Given the description of an element on the screen output the (x, y) to click on. 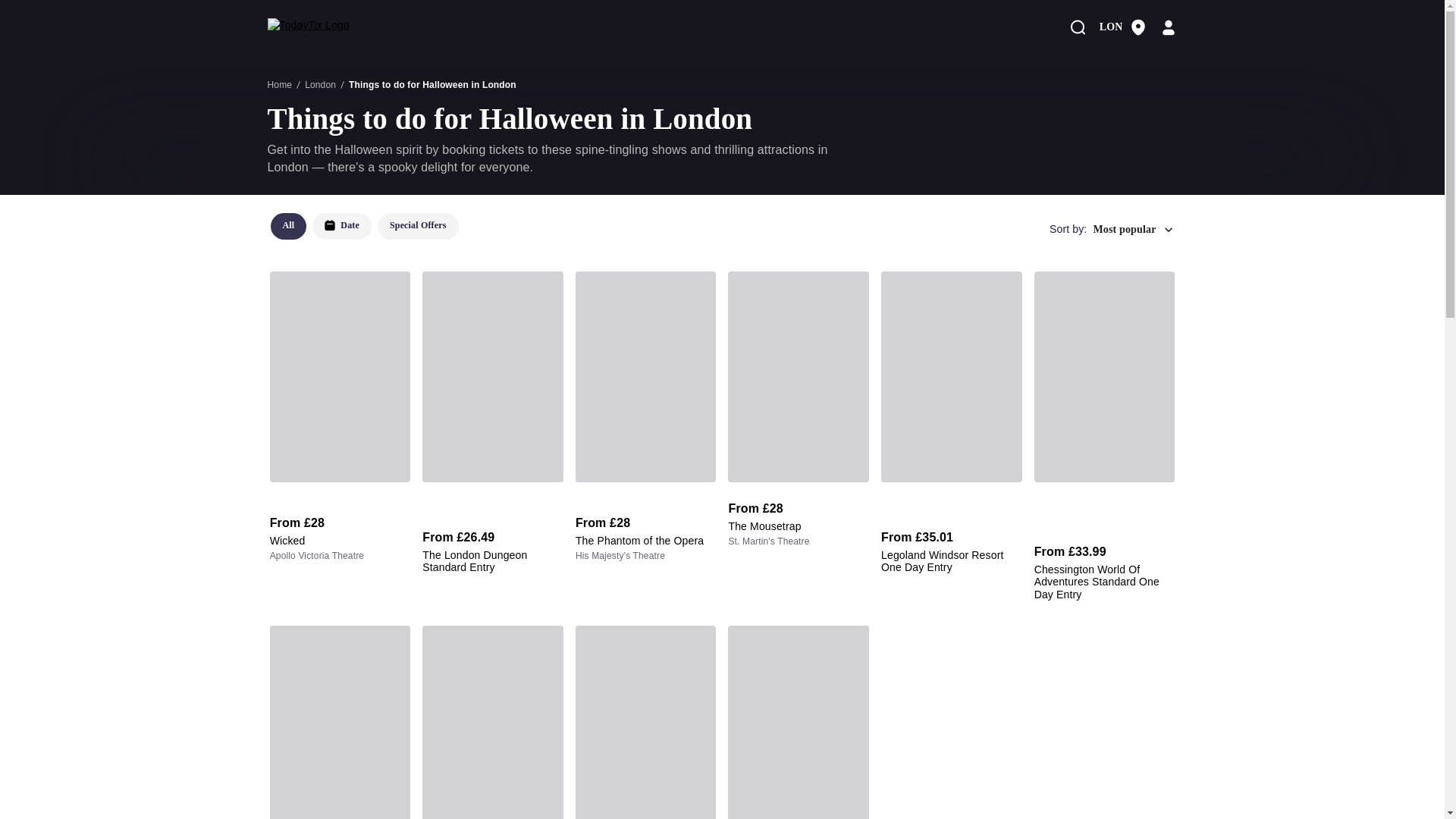
Home (279, 84)
Things to do for Halloween in London (432, 84)
Date (342, 225)
London (320, 84)
All (287, 225)
Special Offers (366, 228)
